Given the description of an element on the screen output the (x, y) to click on. 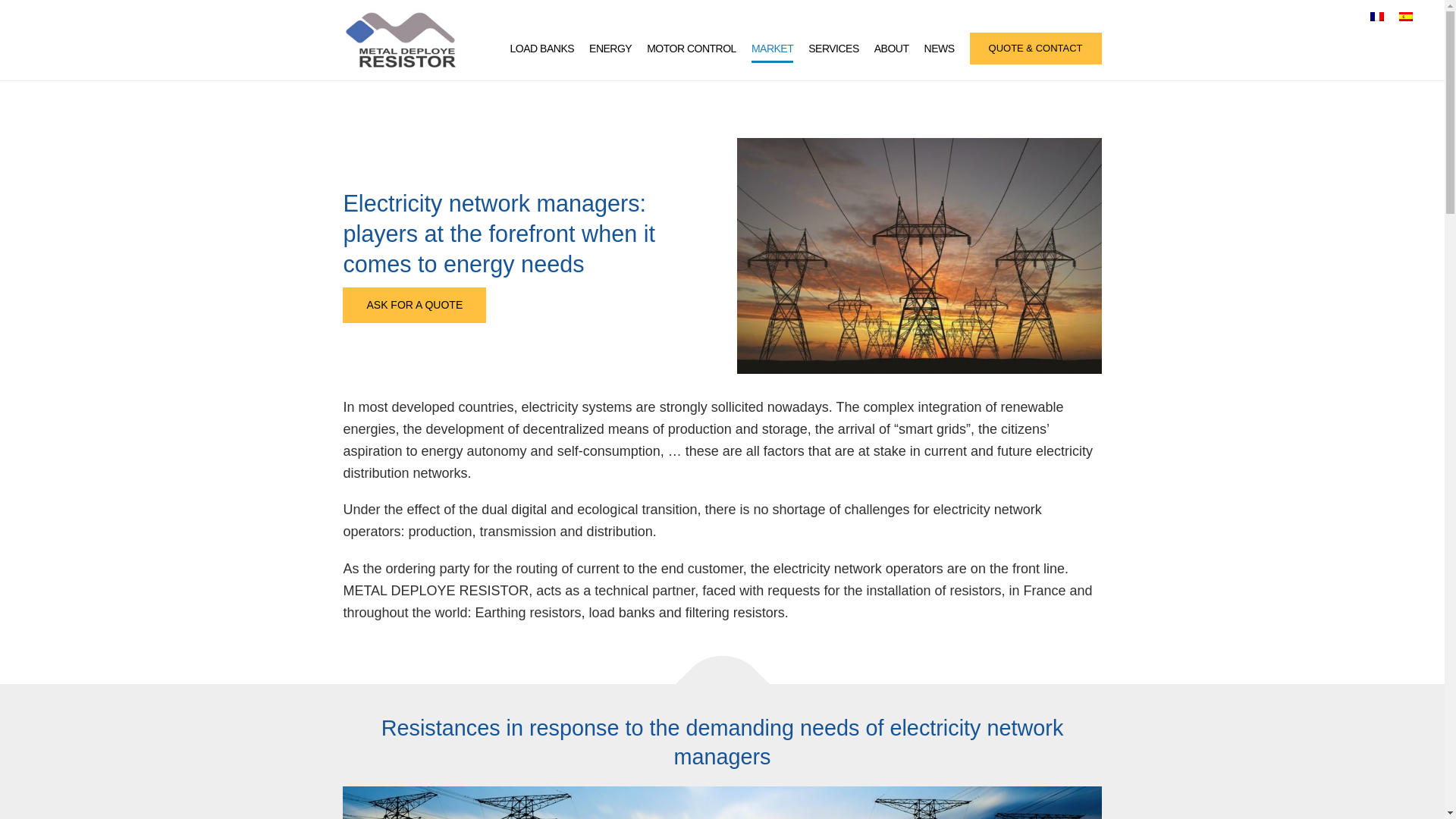
Tour de fil haute pression-min (721, 802)
tour de haute tension electrique-min (918, 255)
LOAD BANKS (542, 48)
MOTOR CONTROL (691, 48)
